Given the description of an element on the screen output the (x, y) to click on. 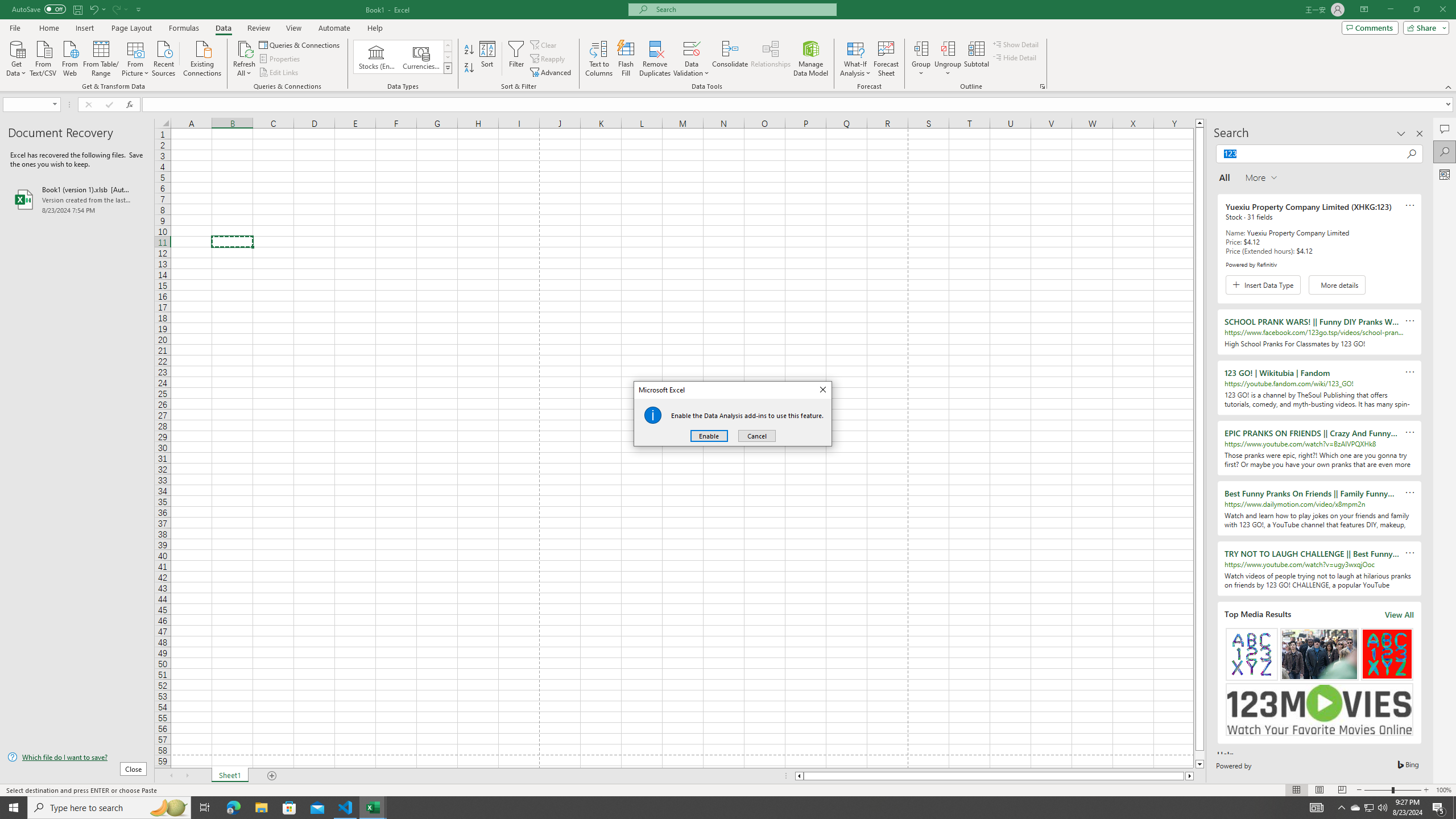
Start (1355, 807)
Enable (13, 807)
